Given the description of an element on the screen output the (x, y) to click on. 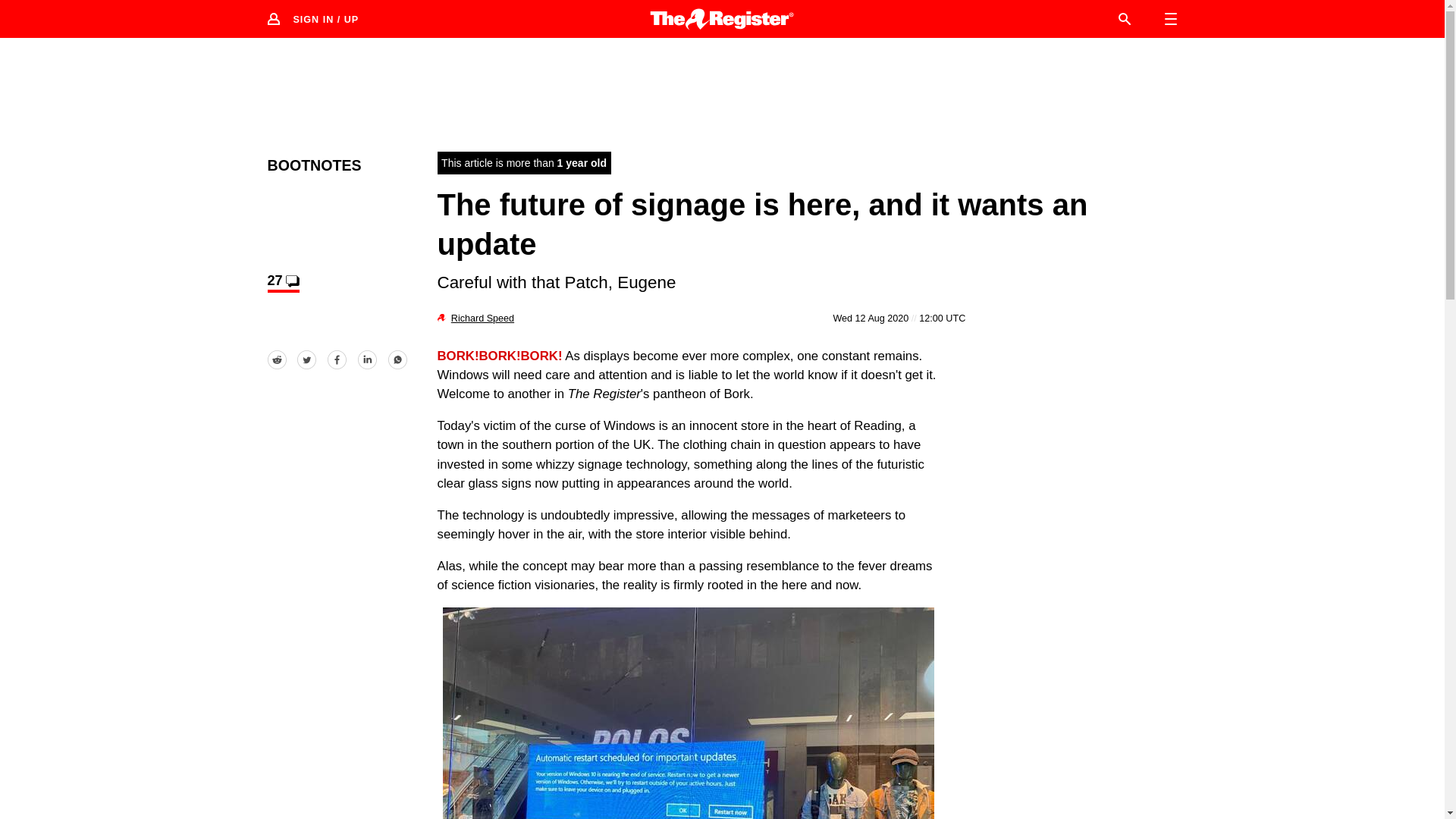
Read more by this author (482, 318)
BORK (688, 713)
View comments on this article (282, 282)
